Given the description of an element on the screen output the (x, y) to click on. 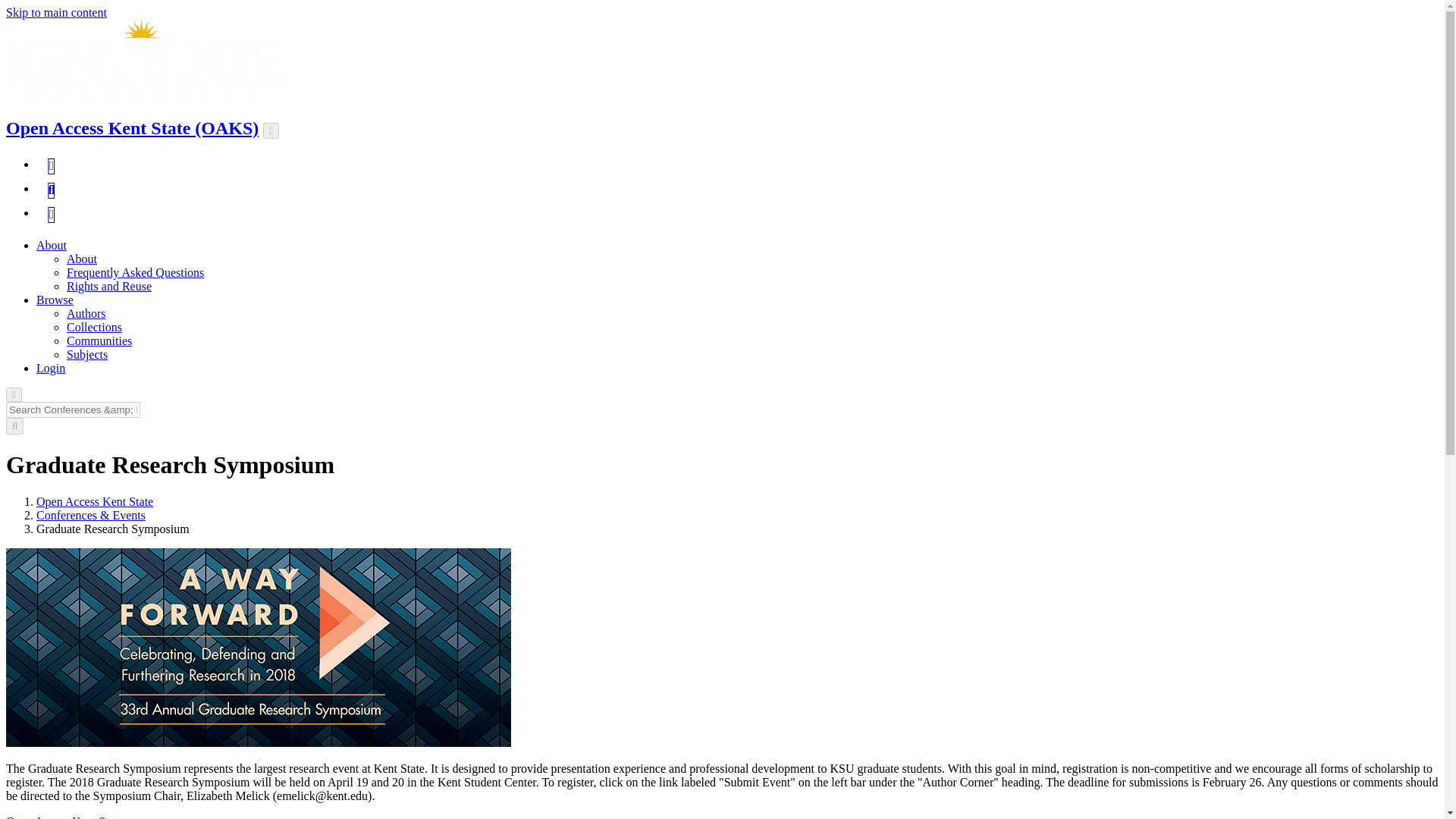
Close search box (13, 394)
Rights and Reuse (108, 286)
About (51, 245)
Frequently Asked Questions (134, 272)
Communities (99, 340)
Open Access Kent State (63, 816)
Login (50, 367)
Kent State University (143, 59)
Authors (86, 313)
Subjects (86, 354)
Skip to main content (55, 11)
Collections (94, 327)
Open Access Kent State (94, 501)
Browse (55, 299)
About (81, 258)
